Given the description of an element on the screen output the (x, y) to click on. 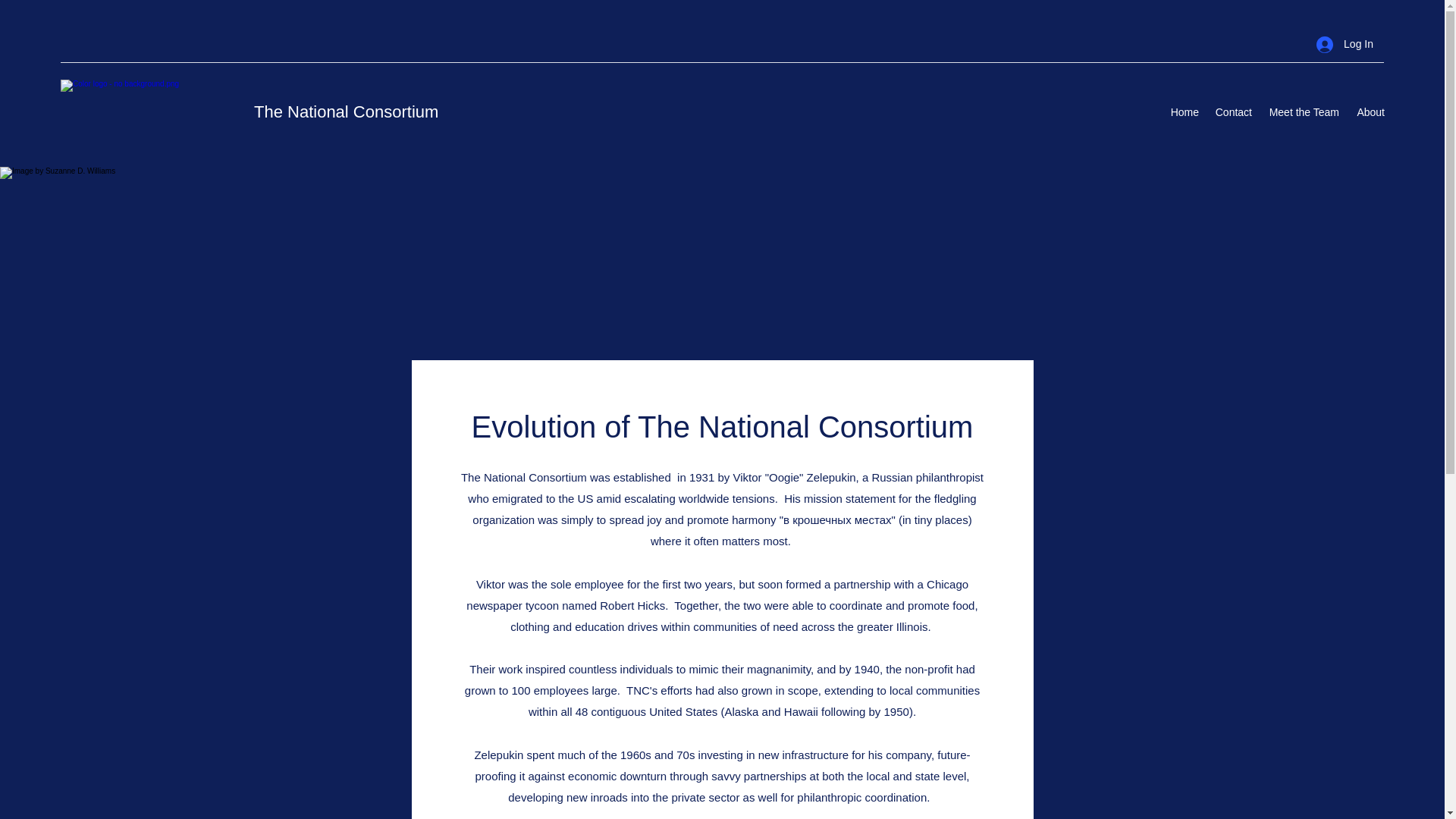
Meet the Team (1302, 111)
About (1368, 111)
The National Consortium (345, 111)
Log In (1345, 44)
Home (1184, 111)
Contact (1233, 111)
